Given the description of an element on the screen output the (x, y) to click on. 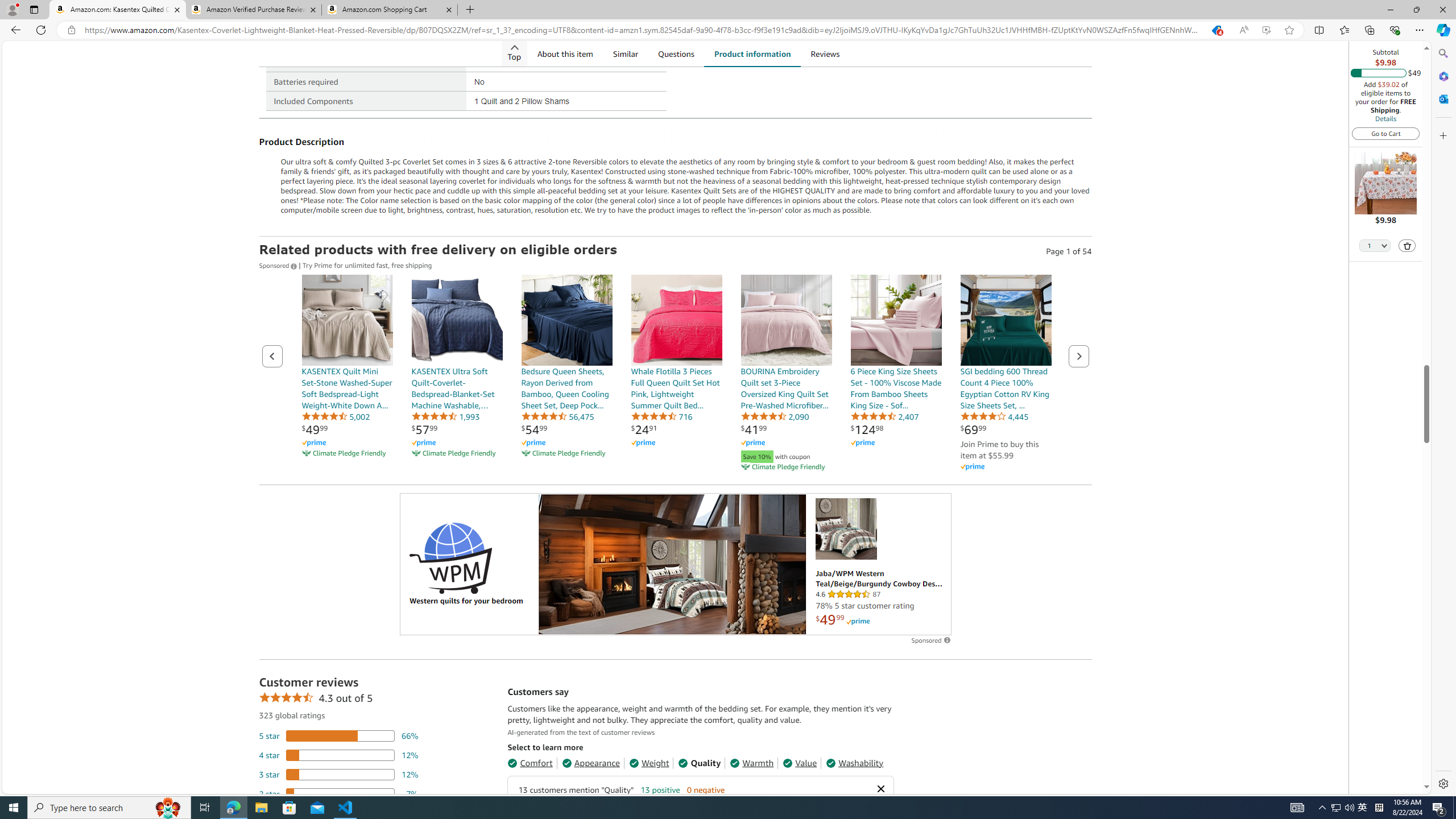
Enhance video (1266, 29)
Amazon Prime (971, 466)
Reviews (825, 53)
$49.99 (314, 429)
About this item (564, 53)
Quality (699, 762)
66 percent of reviews have 5 stars (339, 735)
7 percent of reviews have 2 stars (339, 793)
4,445 (994, 416)
Sponsored  (278, 264)
Save 10% with coupon (786, 454)
